Given the description of an element on the screen output the (x, y) to click on. 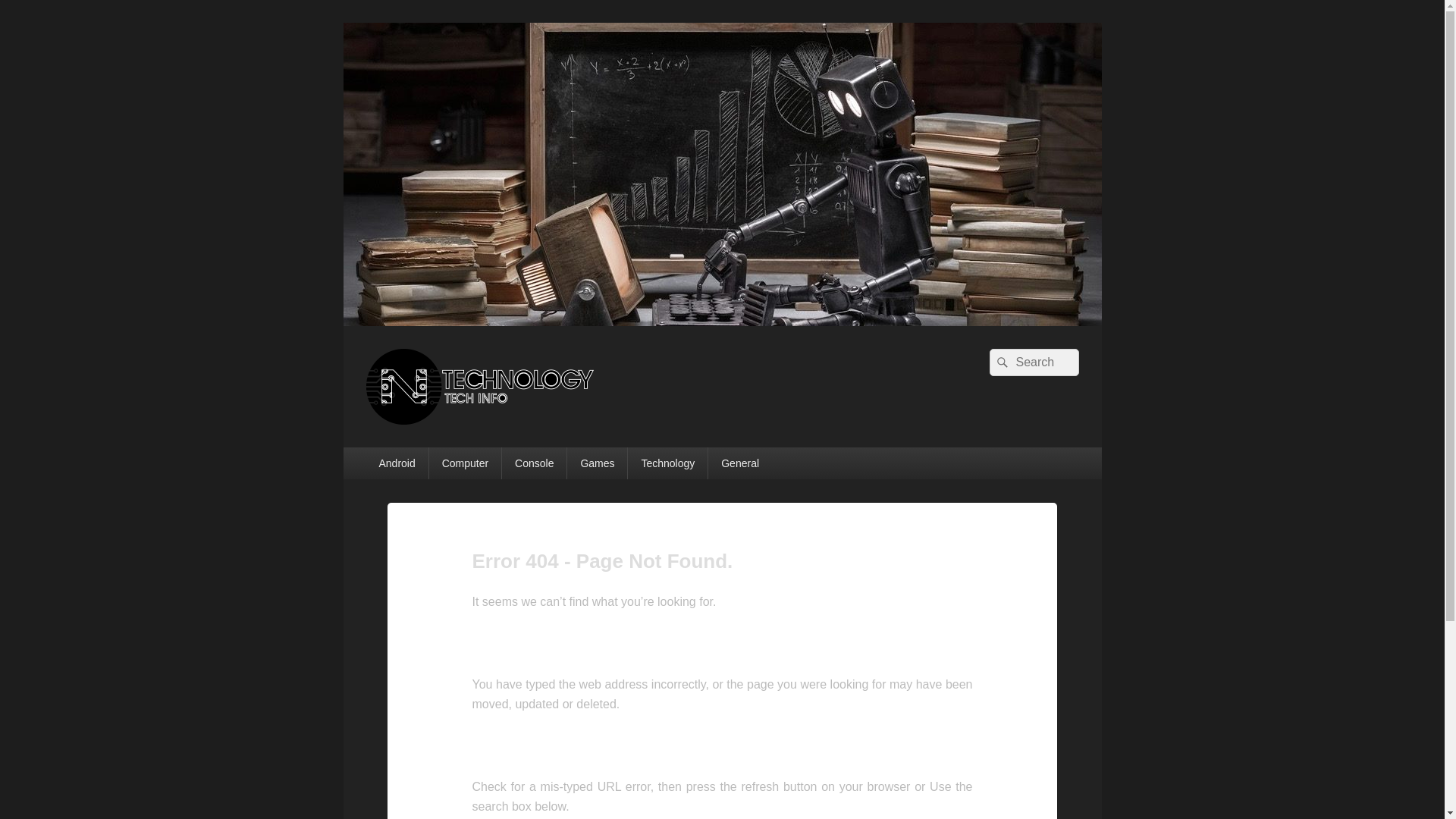
NILE TECHNOLOGY (496, 441)
Console (534, 463)
Computer (464, 463)
Games (597, 463)
NILE TECHNOLOGY (721, 321)
Search for: (1033, 361)
Android (396, 463)
